Given the description of an element on the screen output the (x, y) to click on. 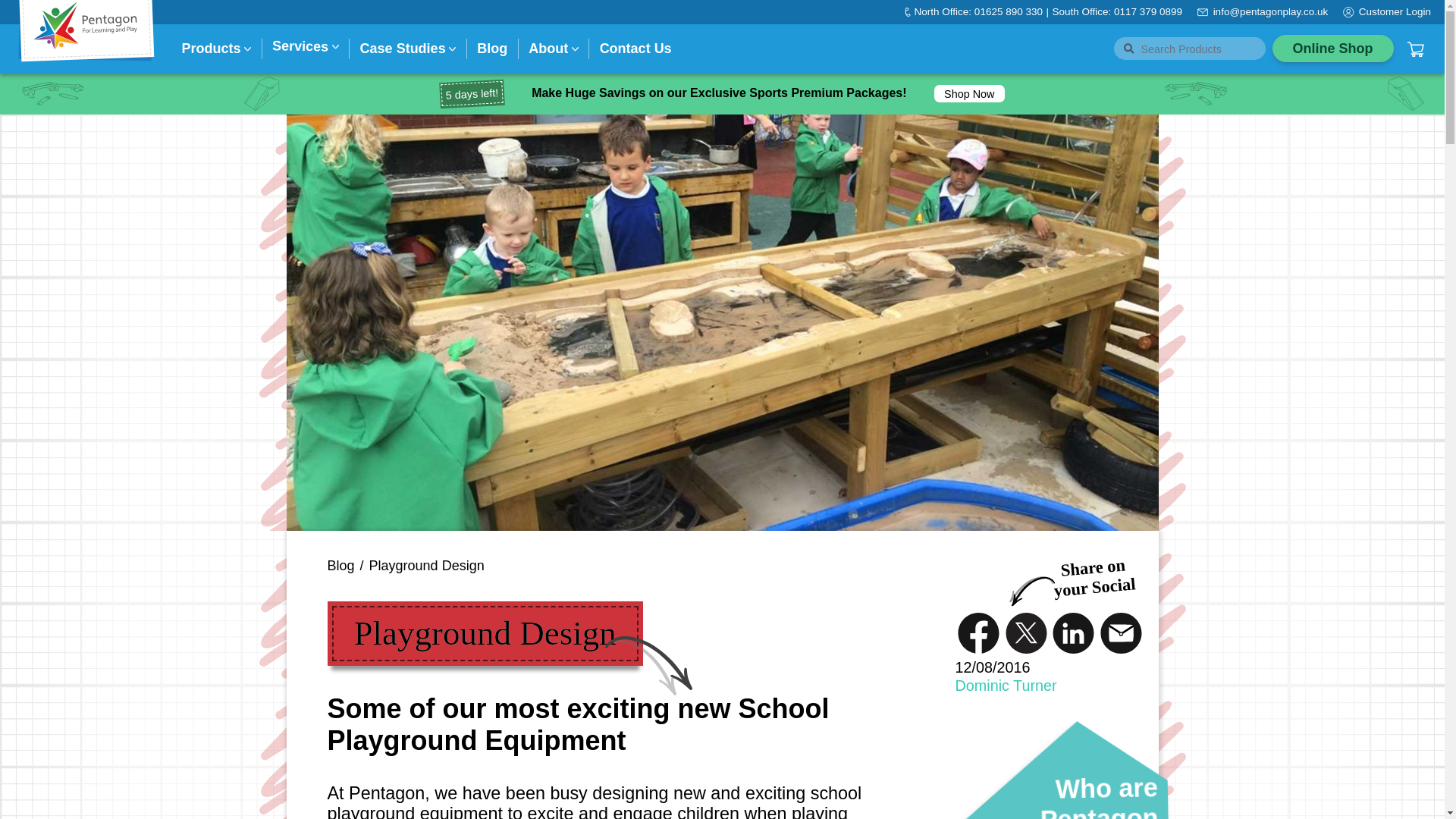
Nature and Planting (522, 209)
Den Making and Playhouses (540, 209)
Early Years Furniture (987, 250)
Playground Lodges (255, 209)
Freestanding Active Play (391, 209)
Trim Trails (355, 209)
Essentials Range (518, 209)
Timber Canopies (247, 209)
Play Castles (362, 209)
North Office: 01625 890 330 (978, 11)
Themed Play (507, 209)
Customer Login (1394, 11)
Gable-End Canopies (257, 209)
Sport (742, 245)
Sensory Play Equipment (533, 209)
